Given the description of an element on the screen output the (x, y) to click on. 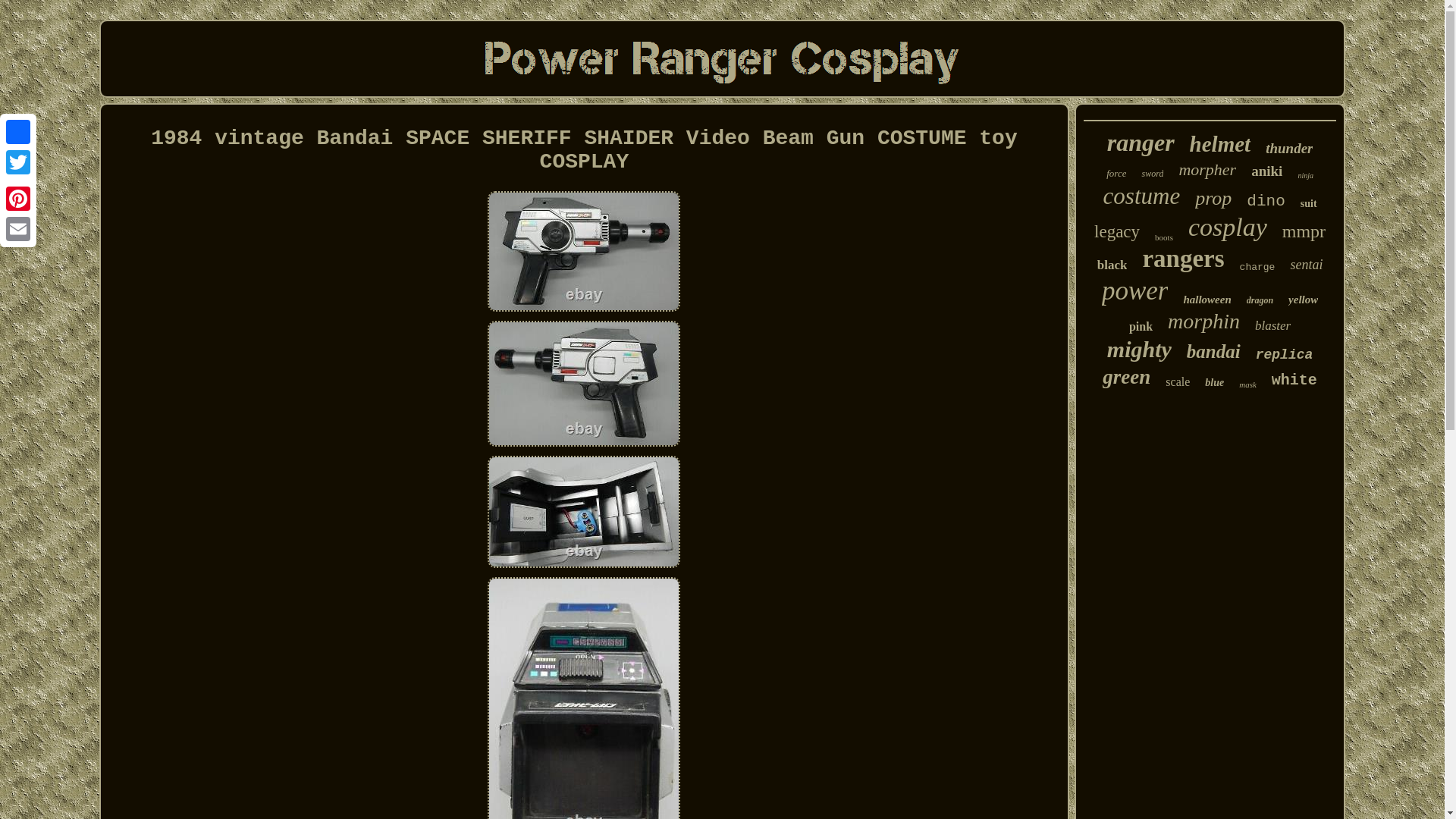
costume (1141, 195)
black (1111, 264)
thunder (1289, 148)
mmpr (1303, 231)
sentai (1306, 264)
power (1135, 291)
dragon (1259, 300)
sword (1152, 173)
pink (1141, 326)
